Given the description of an element on the screen output the (x, y) to click on. 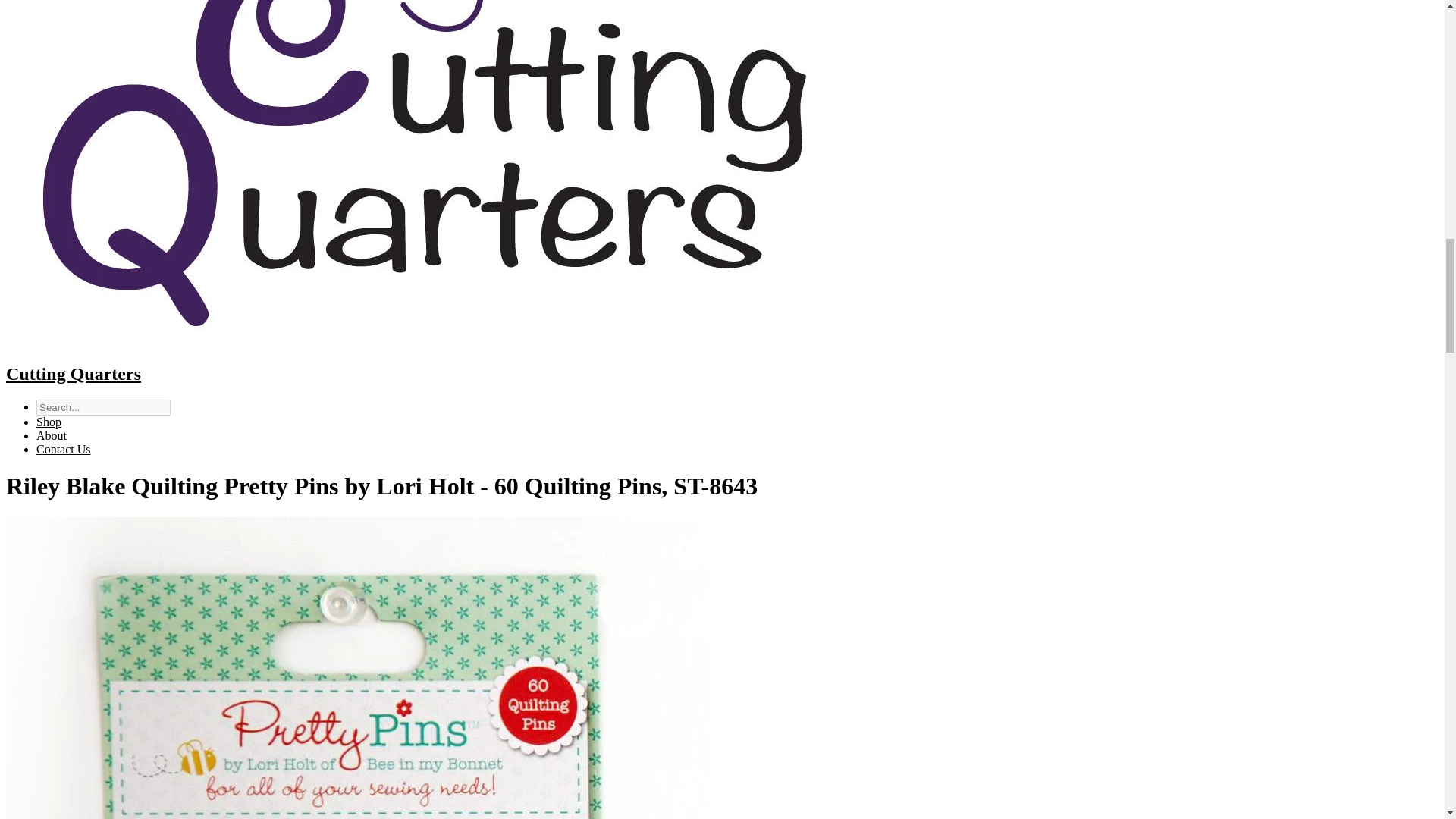
About (51, 435)
Shop (48, 421)
Contact Us (63, 449)
